Given the description of an element on the screen output the (x, y) to click on. 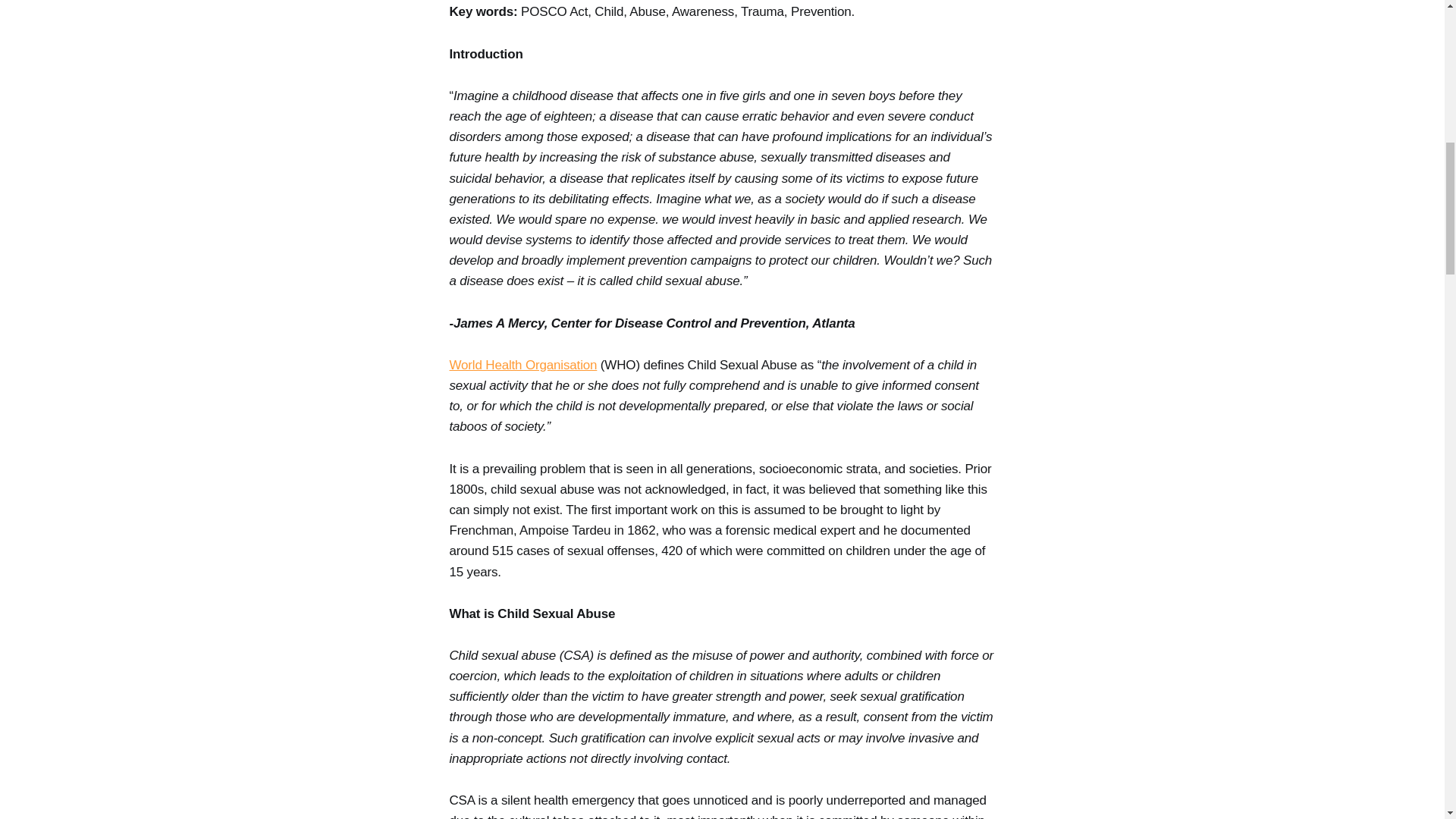
World Health Organisation (522, 364)
